Given the description of an element on the screen output the (x, y) to click on. 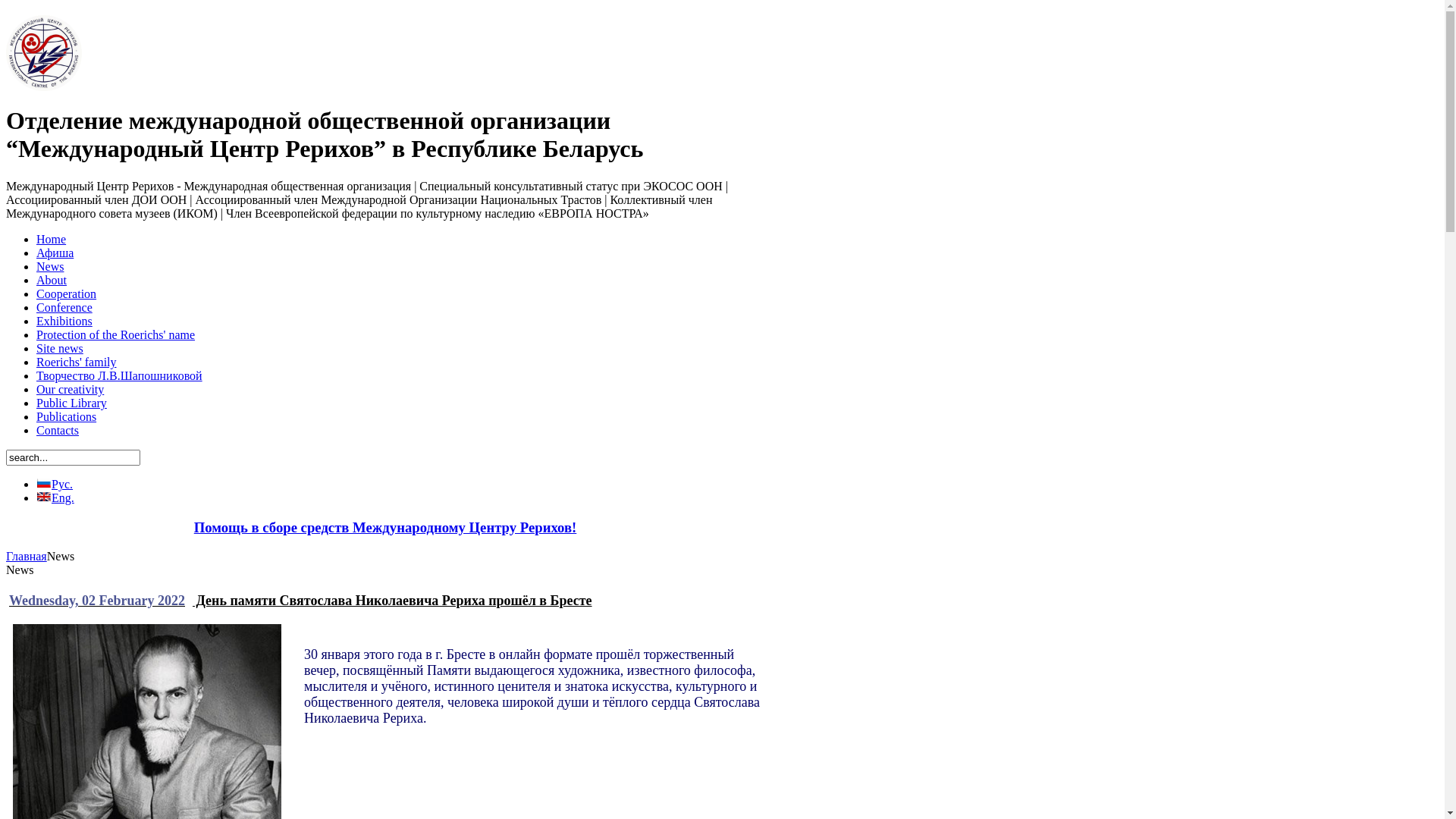
Publications Element type: text (66, 416)
Eng. Element type: text (55, 497)
About Element type: text (51, 279)
Eng. Element type: hover (43, 496)
Cooperation Element type: text (66, 293)
Home Element type: text (50, 238)
Exhibitions Element type: text (64, 320)
Our creativity Element type: text (69, 388)
News Element type: text (49, 266)
Contacts Element type: text (57, 429)
Protection of the Roerichs' name Element type: text (115, 334)
Roerichs' family Element type: text (76, 361)
Public Library Element type: text (71, 402)
Conference Element type: text (64, 307)
Site news Element type: text (59, 348)
